Given the description of an element on the screen output the (x, y) to click on. 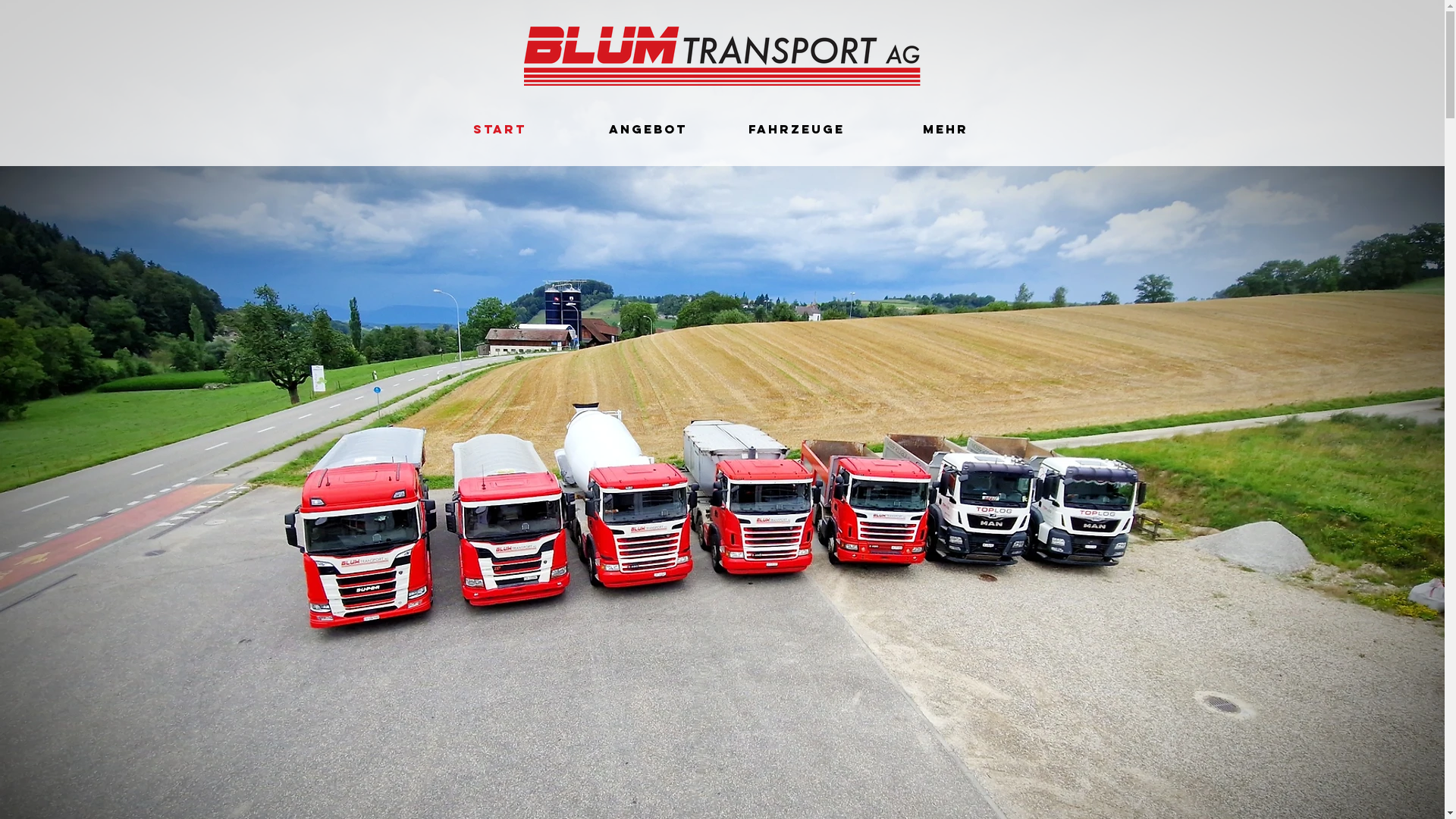
Angebot Element type: text (647, 129)
Fahrzeuge Element type: text (795, 129)
Start Element type: text (498, 129)
